Given the description of an element on the screen output the (x, y) to click on. 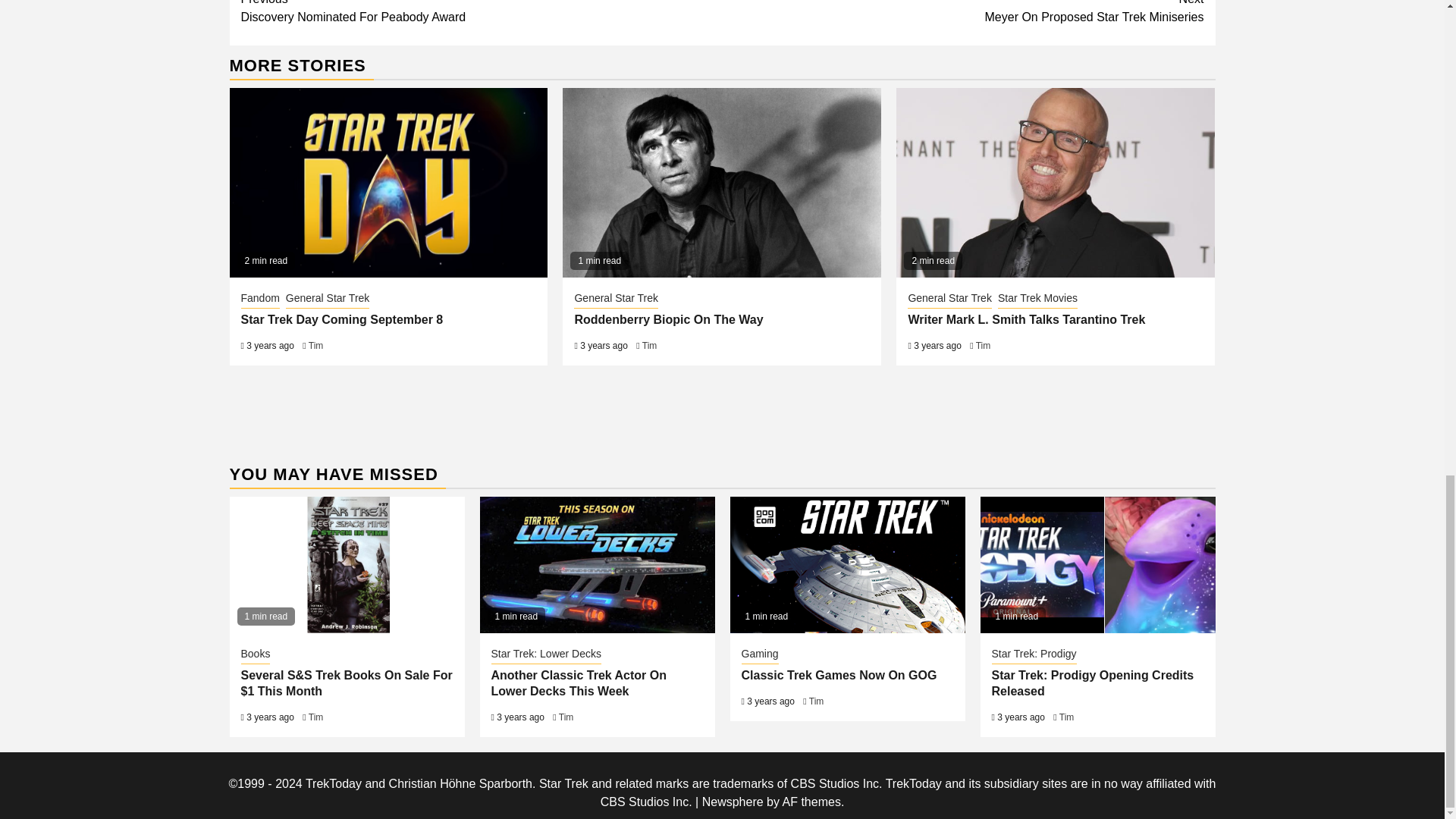
General Star Trek (327, 299)
Fandom (260, 299)
Star Trek Day Coming September 8 (342, 318)
